Given the description of an element on the screen output the (x, y) to click on. 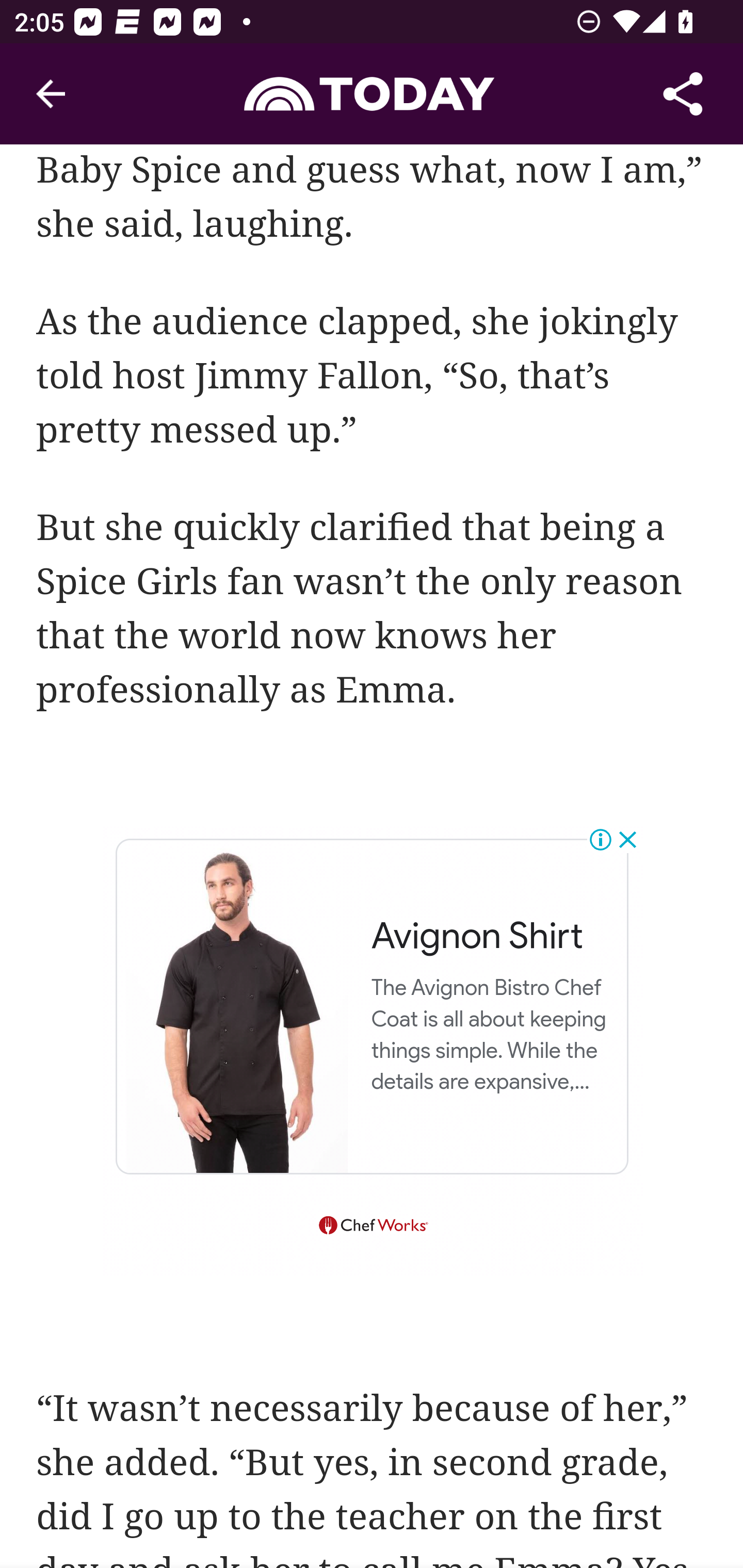
Navigate up (50, 93)
Share Article, button (683, 94)
Header, Today (371, 93)
